Given the description of an element on the screen output the (x, y) to click on. 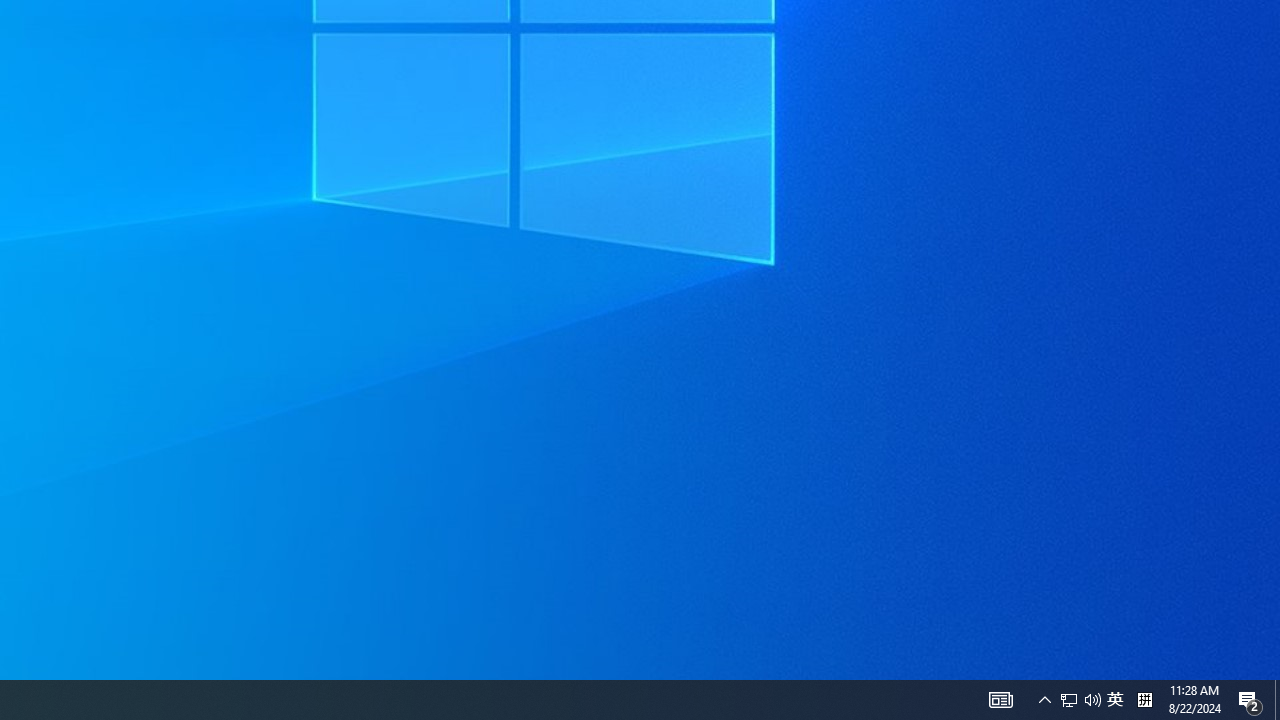
Action Center, 2 new notifications (1250, 699)
AutomationID: 4105 (1069, 699)
Q2790: 100% (1000, 699)
Tray Input Indicator - Chinese (Simplified, China) (1092, 699)
User Promoted Notification Area (1144, 699)
Show desktop (1080, 699)
Notification Chevron (1277, 699)
